Given the description of an element on the screen output the (x, y) to click on. 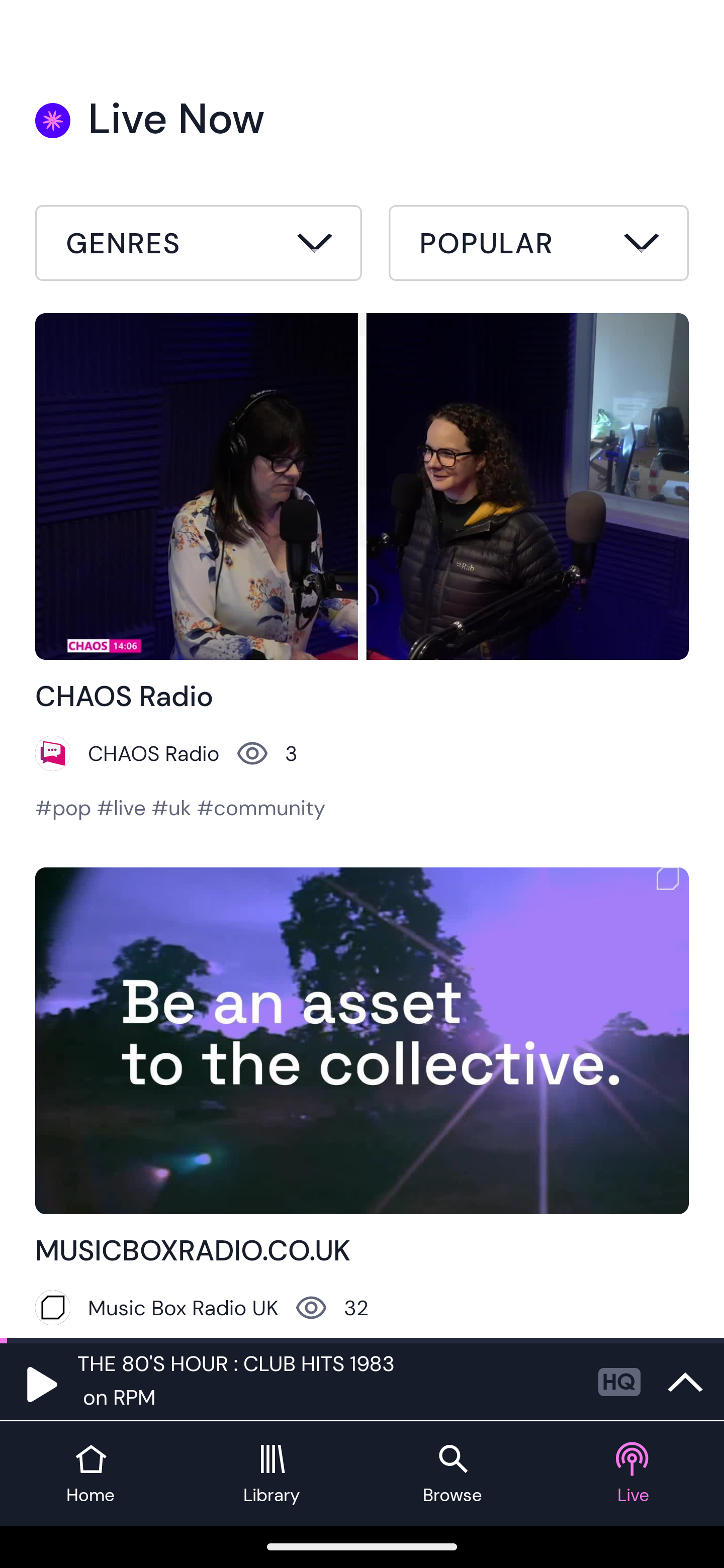
Filter by button All (198, 245)
Sort by button Popular (538, 245)
Home tab Home (90, 1473)
Library tab Library (271, 1473)
Browse tab Browse (452, 1473)
Live tab Live (633, 1473)
